Given the description of an element on the screen output the (x, y) to click on. 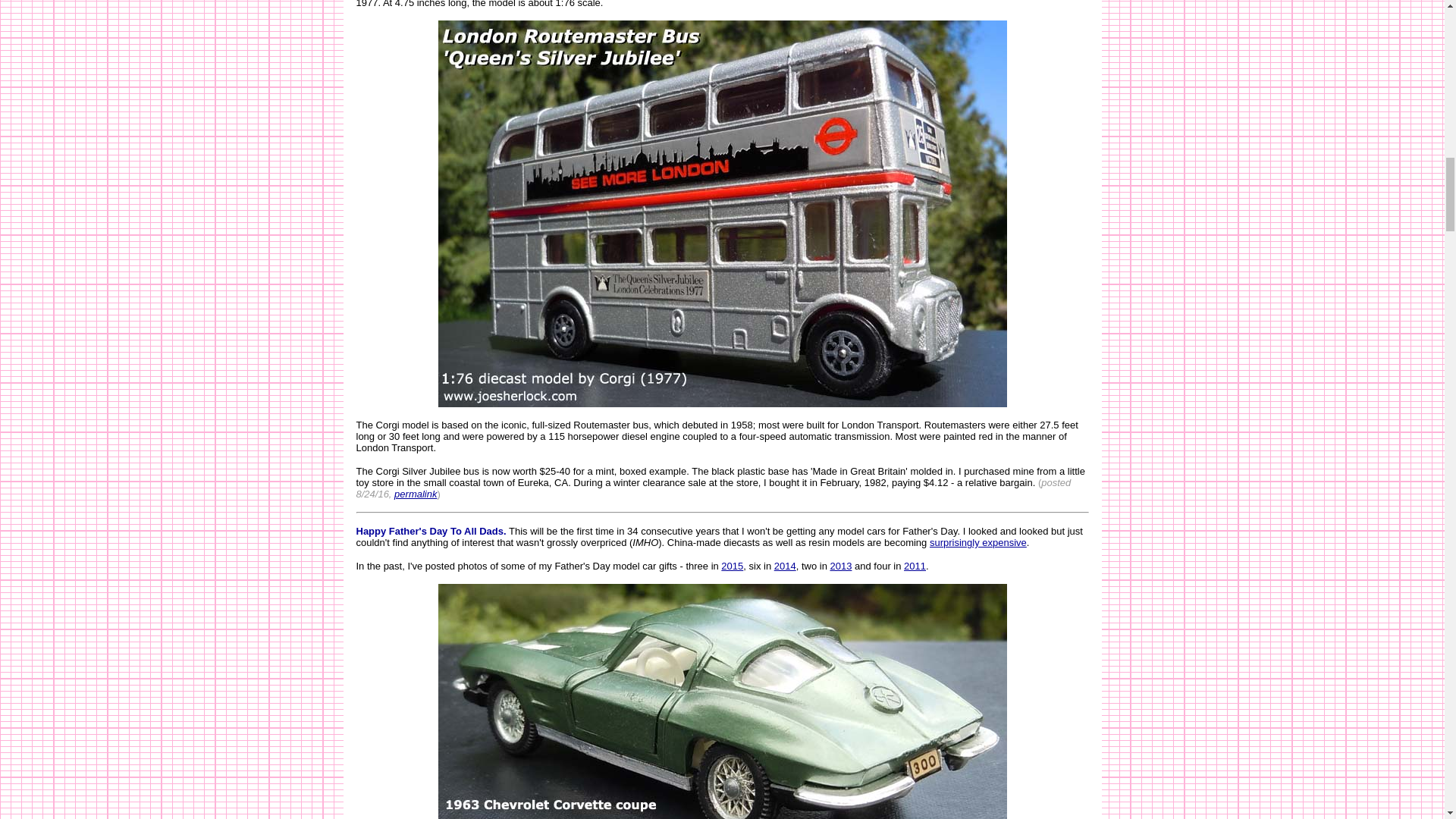
permalink (415, 493)
2014 (785, 565)
2015 (731, 565)
2011 (915, 565)
2013 (840, 565)
surprisingly expensive (978, 542)
